Given the description of an element on the screen output the (x, y) to click on. 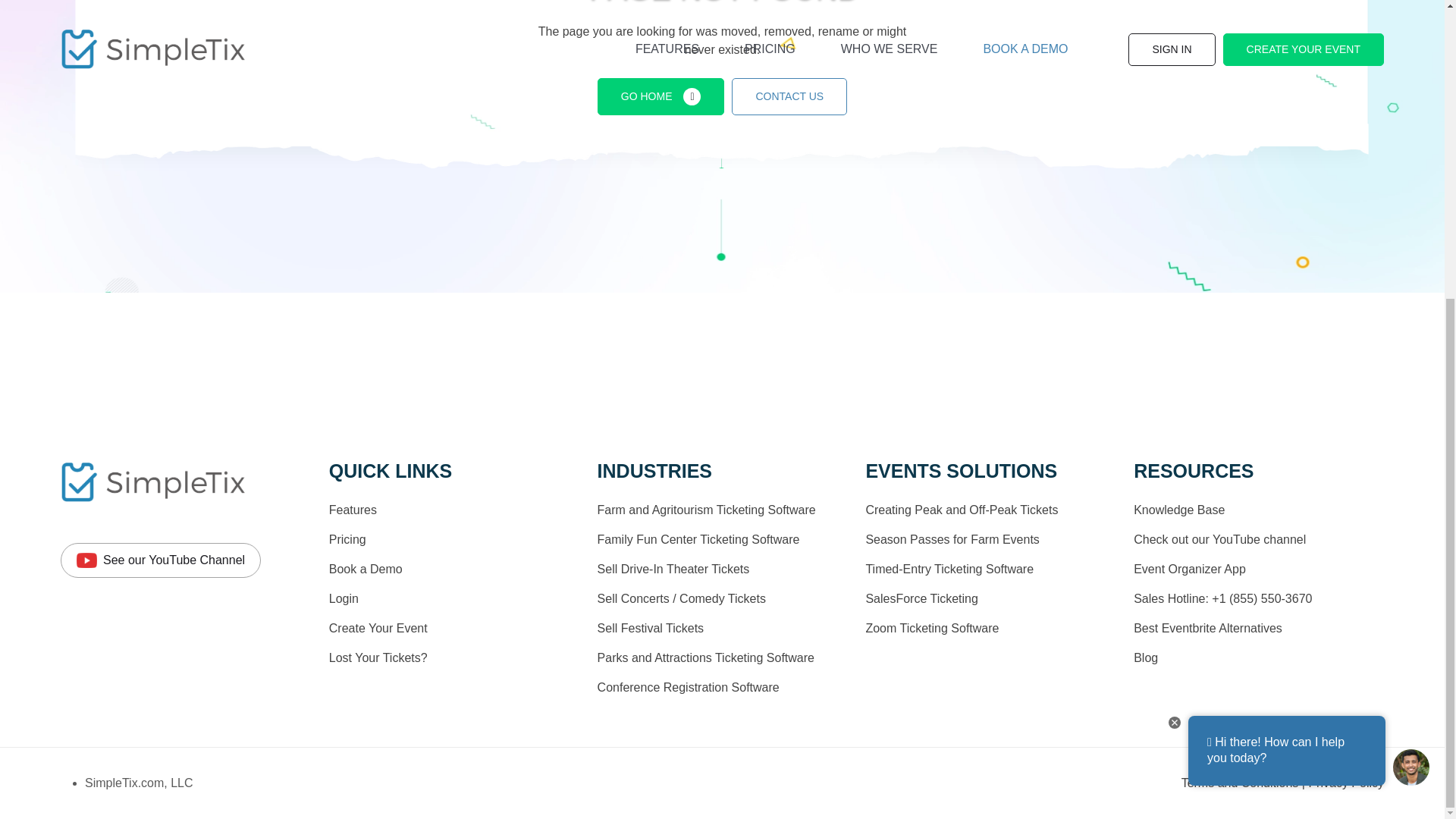
GO HOME (660, 96)
Login (343, 598)
Zoom Ticketing Software (931, 627)
See our YouTube Channel (160, 560)
Create Your Event (378, 627)
Season Passes for Farm Events (951, 539)
Conference Registration Software (687, 686)
Parks and Attractions Ticketing Software (704, 657)
Farm and Agritourism Ticketing Software (705, 509)
Book a Demo (366, 568)
Check out our YouTube channel (1220, 539)
Blog (1145, 657)
Features (353, 509)
Terms and Conditions (1240, 782)
Family Fun Center Ticketing Software (697, 539)
